Given the description of an element on the screen output the (x, y) to click on. 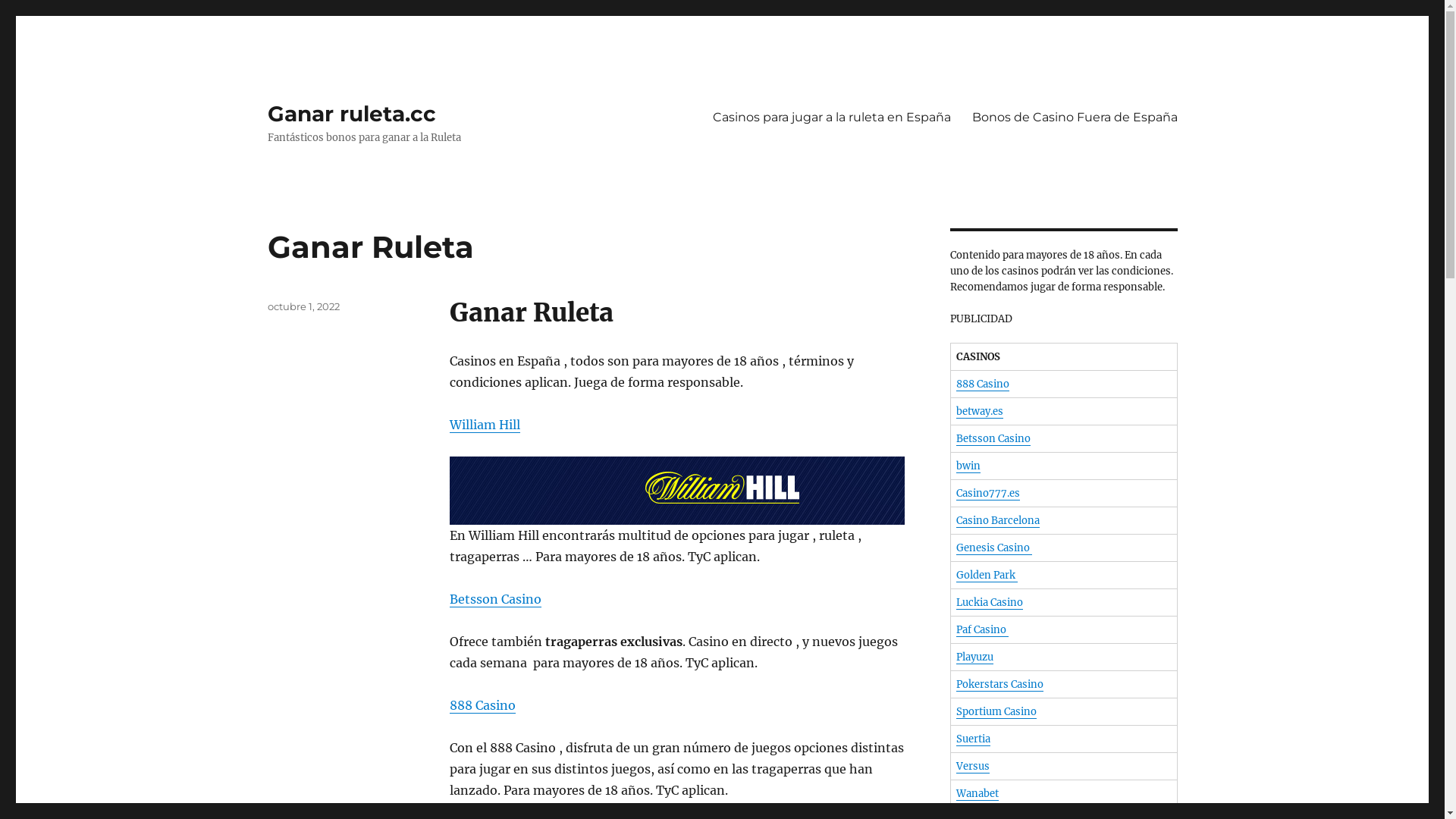
Genesis Casino  Element type: text (993, 547)
Betsson Casino Element type: text (992, 438)
Wanabet Element type: text (976, 793)
Golden Park  Element type: text (985, 574)
bwin Element type: text (967, 465)
Paf Casino  Element type: text (981, 629)
octubre 1, 2022 Element type: text (302, 306)
Luckia Casino Element type: text (988, 602)
Suertia Element type: text (972, 738)
Versus Element type: text (971, 765)
Ganar ruleta.cc Element type: text (350, 113)
William Hill Element type: text (483, 424)
888 Casino Element type: text (981, 383)
Pokerstars Casino Element type: text (998, 683)
Sportium Casino Element type: text (995, 711)
Betsson Casino Element type: text (494, 598)
Casino Barcelona Element type: text (996, 520)
betway.es Element type: text (978, 410)
Playuzu Element type: text (973, 656)
Ganar Ruleta Element type: text (369, 246)
Casino777.es Element type: text (987, 492)
888 Casino Element type: text (481, 704)
